Given the description of an element on the screen output the (x, y) to click on. 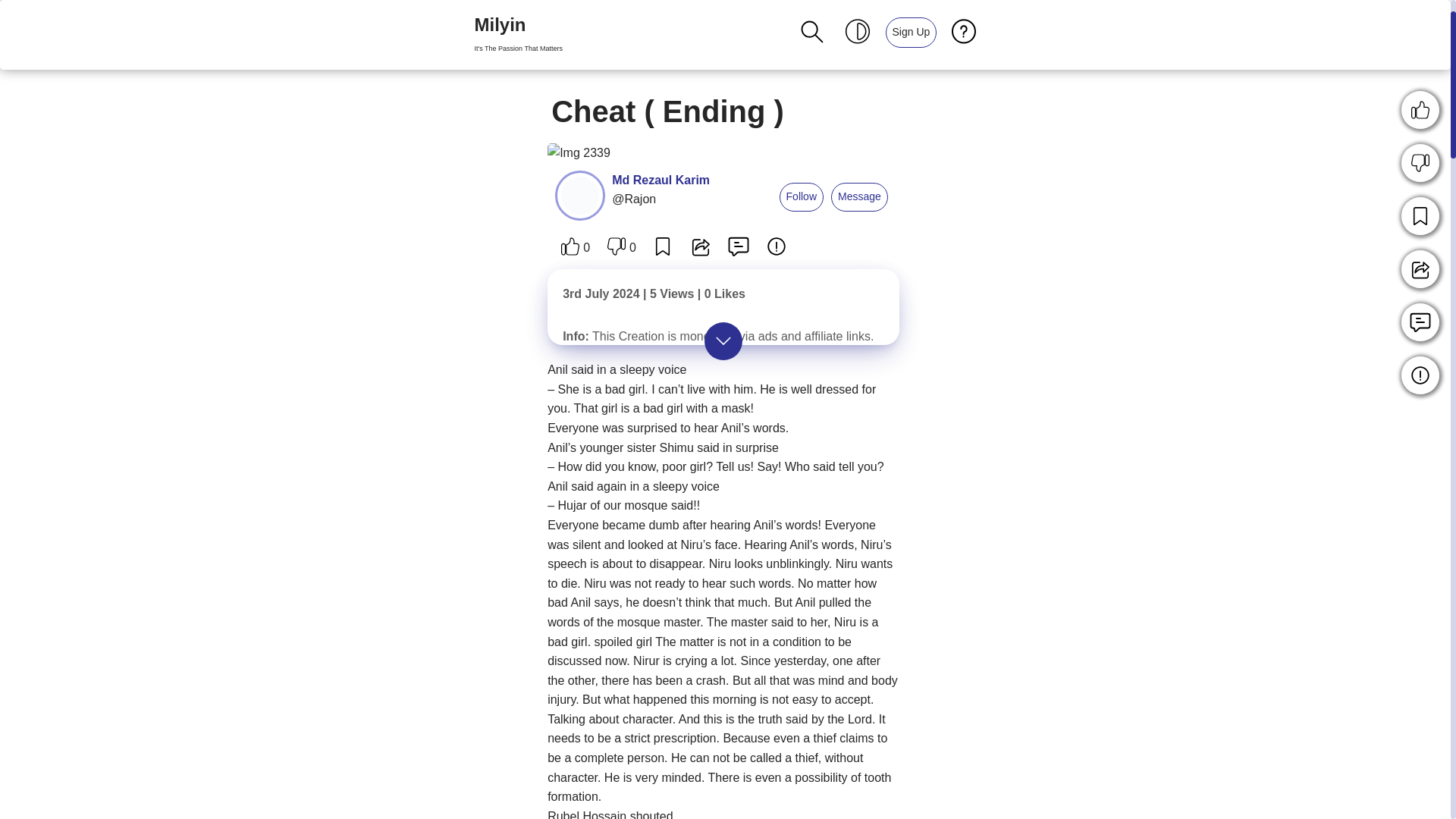
Skip to content (518, 34)
Sign Up (11, 31)
Sign Up (910, 31)
Message (911, 32)
Follow (859, 196)
Md Rezaul Karim (801, 196)
Milyin (660, 179)
